Given the description of an element on the screen output the (x, y) to click on. 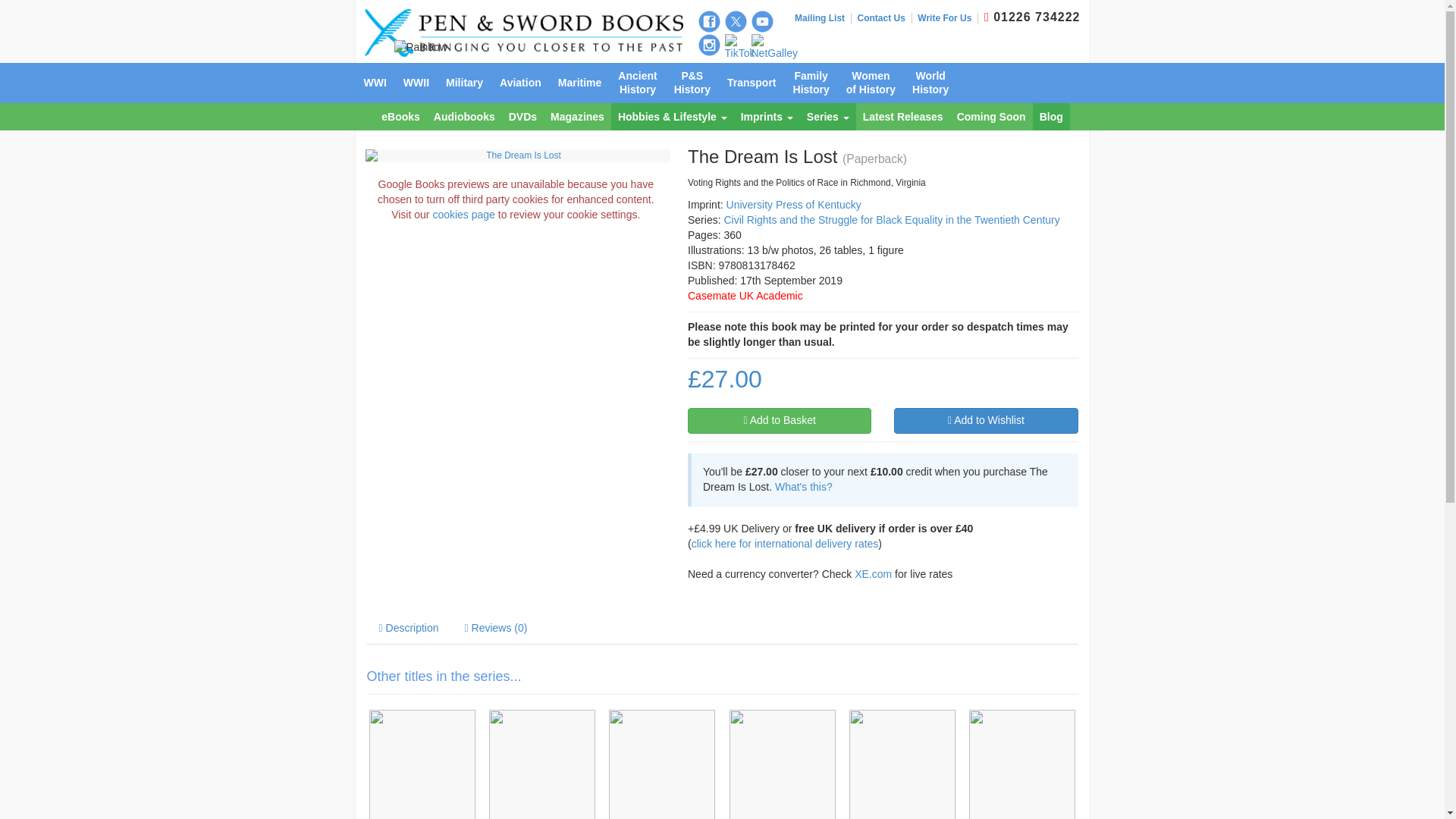
Facebook (708, 21)
Instagram (708, 45)
Gateway to Equality (662, 764)
TikTok (740, 47)
For a Voice and the Vote (781, 764)
This Little Light of Mine (541, 764)
YouTube (762, 21)
After the Dream (902, 764)
Pittsburgh and the Urban League Movement (421, 764)
